Given the description of an element on the screen output the (x, y) to click on. 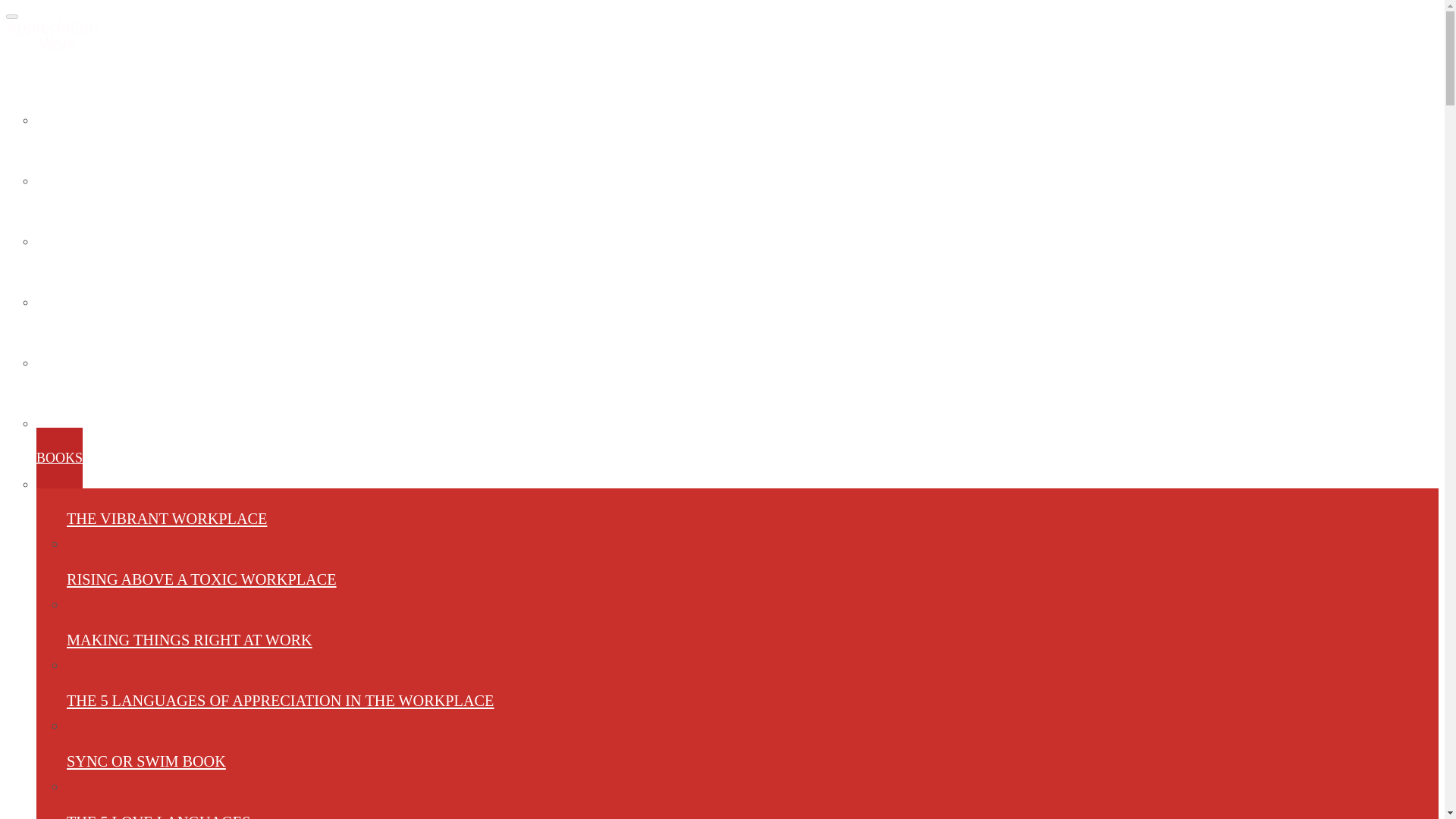
THE 5 LOVE LANGUAGES (79, 93)
SHOP (158, 805)
THE 5 LANGUAGES OF APPRECIATION IN THE WORKPLACE (53, 336)
BOOKS (279, 700)
CONTACT (68, 154)
RISING ABOVE A TOXIC WORKPLACE (59, 457)
Toggle navigation (68, 396)
MAKING THINGS RIGHT AT WORK (201, 578)
BLOG (11, 16)
SYNC OR SWIM BOOK (189, 639)
THE VIBRANT WORKPLACE (55, 275)
